Given the description of an element on the screen output the (x, y) to click on. 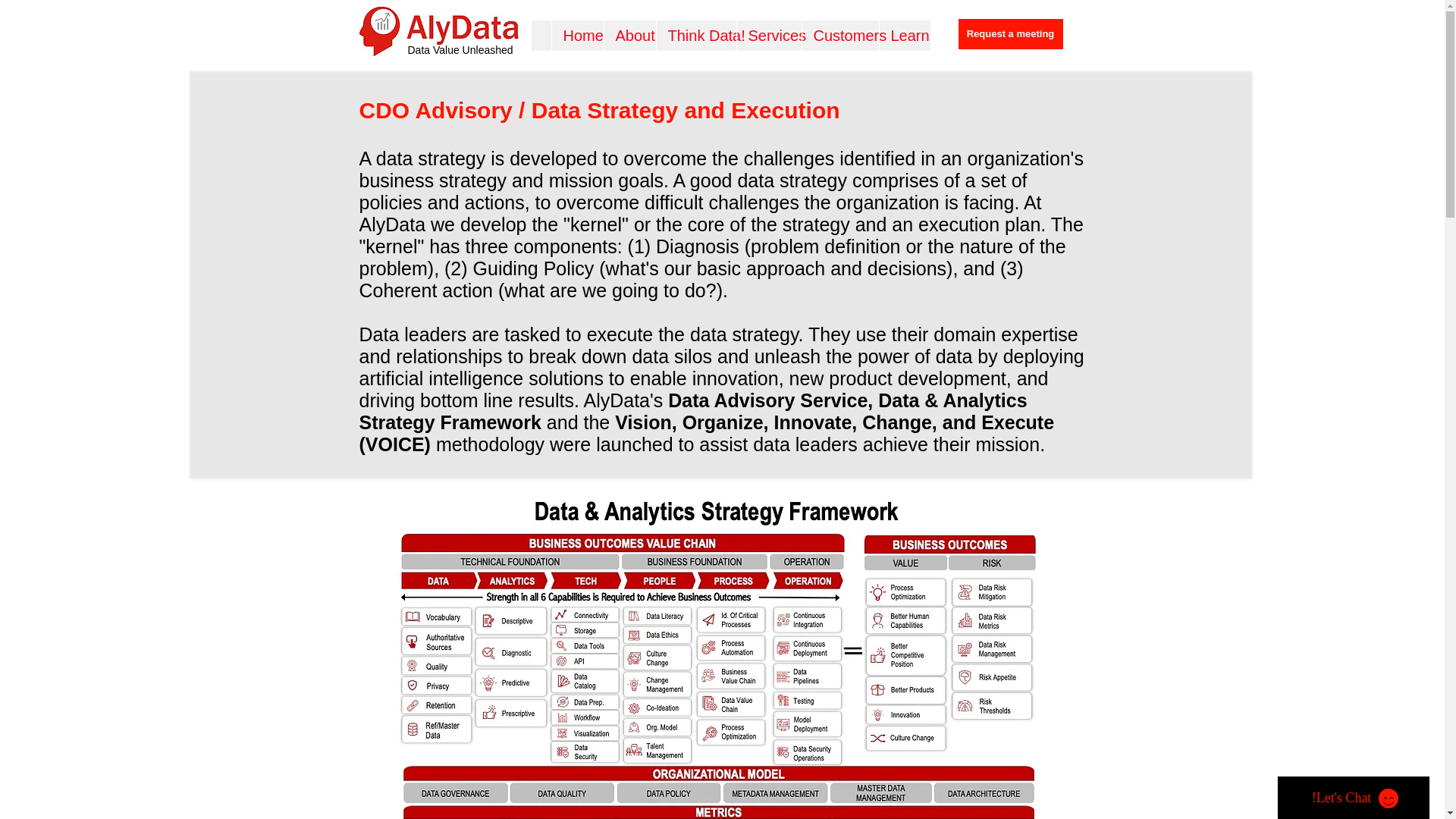
Home (576, 35)
About (630, 35)
Think Data! (695, 35)
Request a meeting (1010, 33)
